Given the description of an element on the screen output the (x, y) to click on. 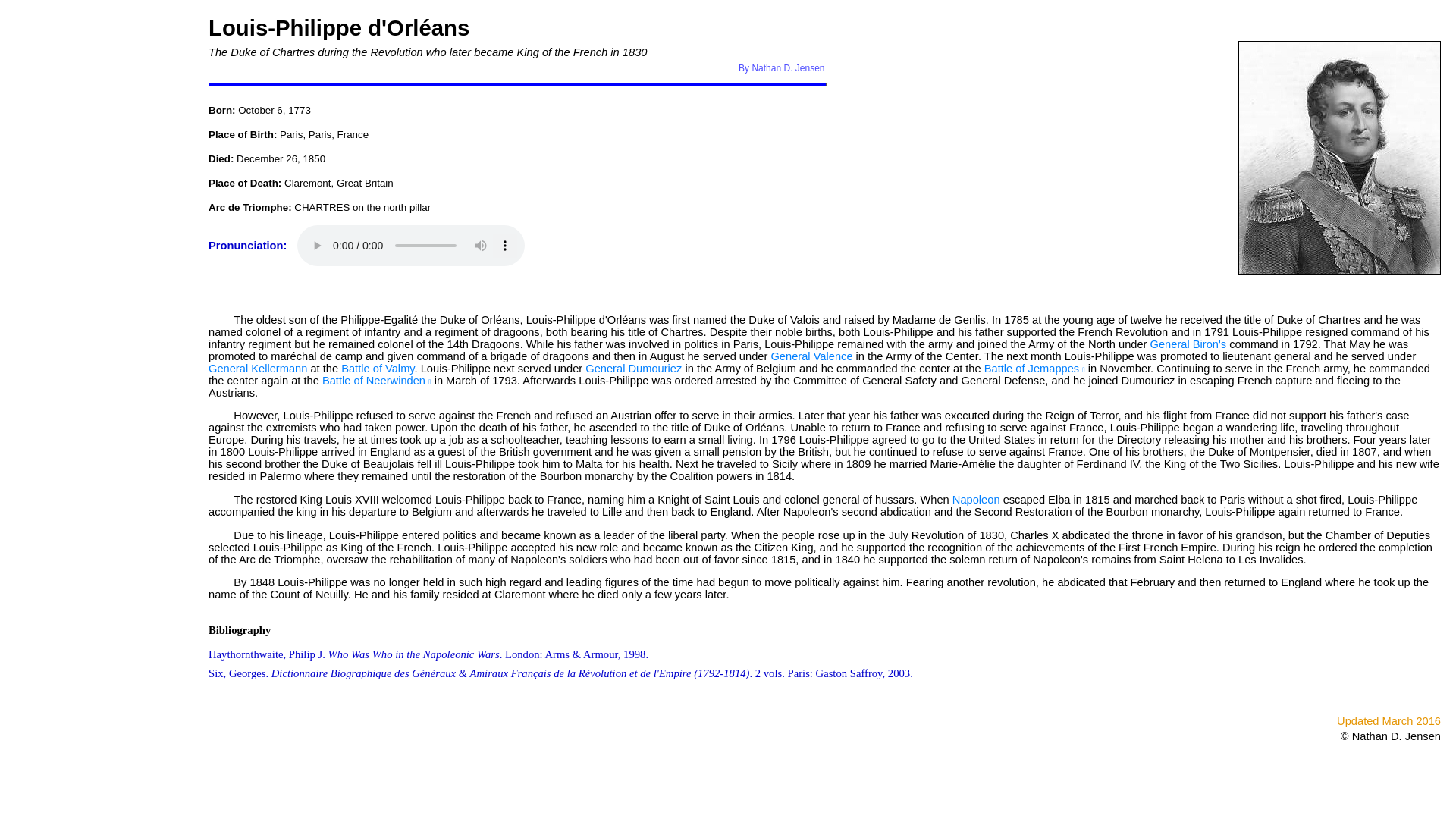
General Biron's (1188, 344)
By Nathan D. Jensen (781, 68)
Battle of Valmy (376, 368)
Pronunciation: (251, 245)
Armand-Louis de Gontaut Biron (1188, 344)
General Valence (810, 356)
Battle of Neerwinden (375, 380)
September 20, 1792 (376, 368)
Napoleon Bonaparte (976, 499)
General Dumouriez (633, 368)
March 18, 1793 (375, 380)
Napoleon (976, 499)
November 6, 1792 (1034, 368)
Battle of Jemappes (1034, 368)
